Given the description of an element on the screen output the (x, y) to click on. 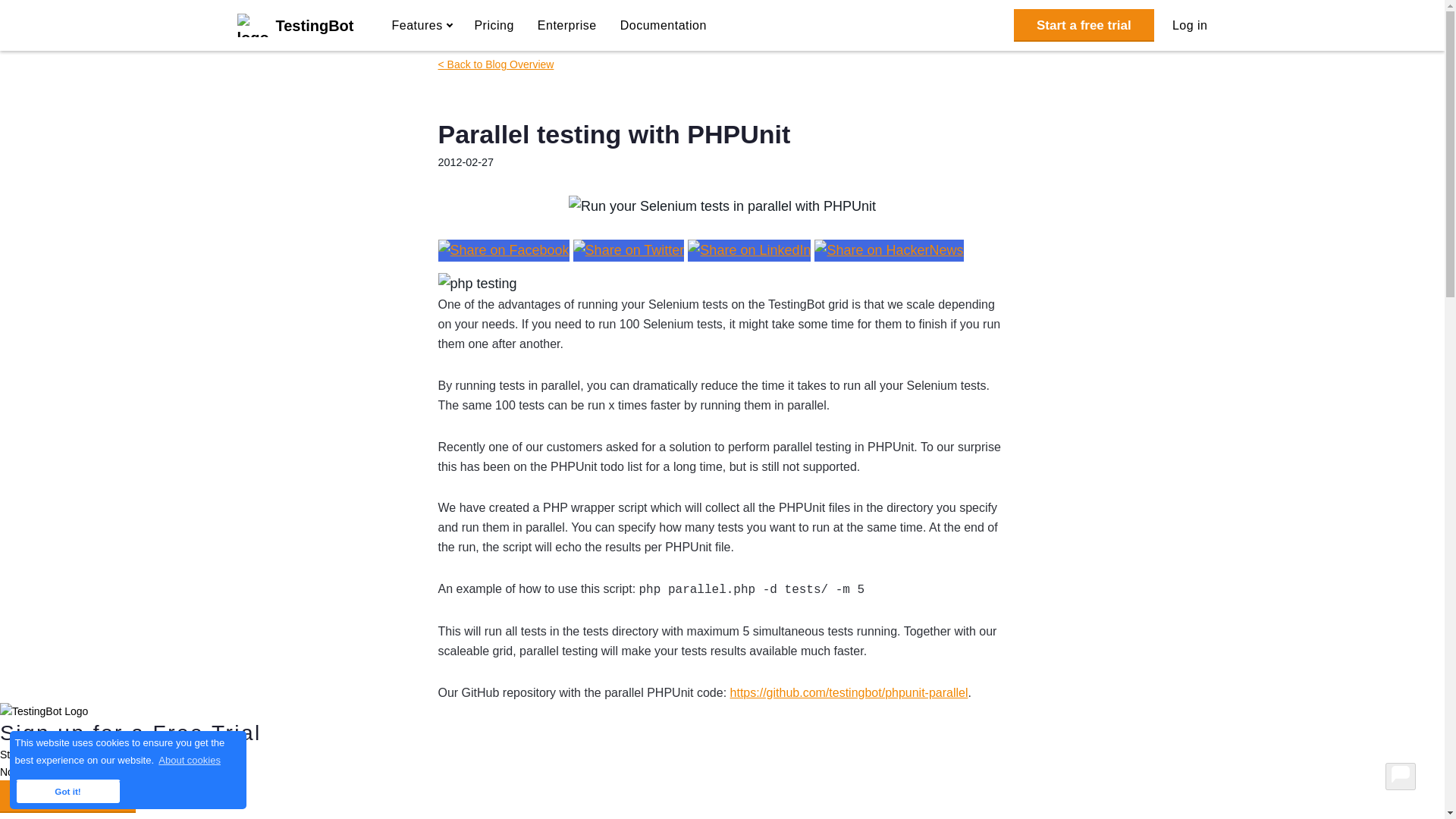
Log in (1190, 28)
Enterprise (566, 28)
Documentation (663, 28)
Share on LinkedIn (748, 249)
Phpunit-Logo (477, 283)
Cross Browser Testing (294, 25)
Share on Twitter (628, 249)
Start a free trial (1083, 25)
Features (420, 28)
TestingBot (294, 25)
